Given the description of an element on the screen output the (x, y) to click on. 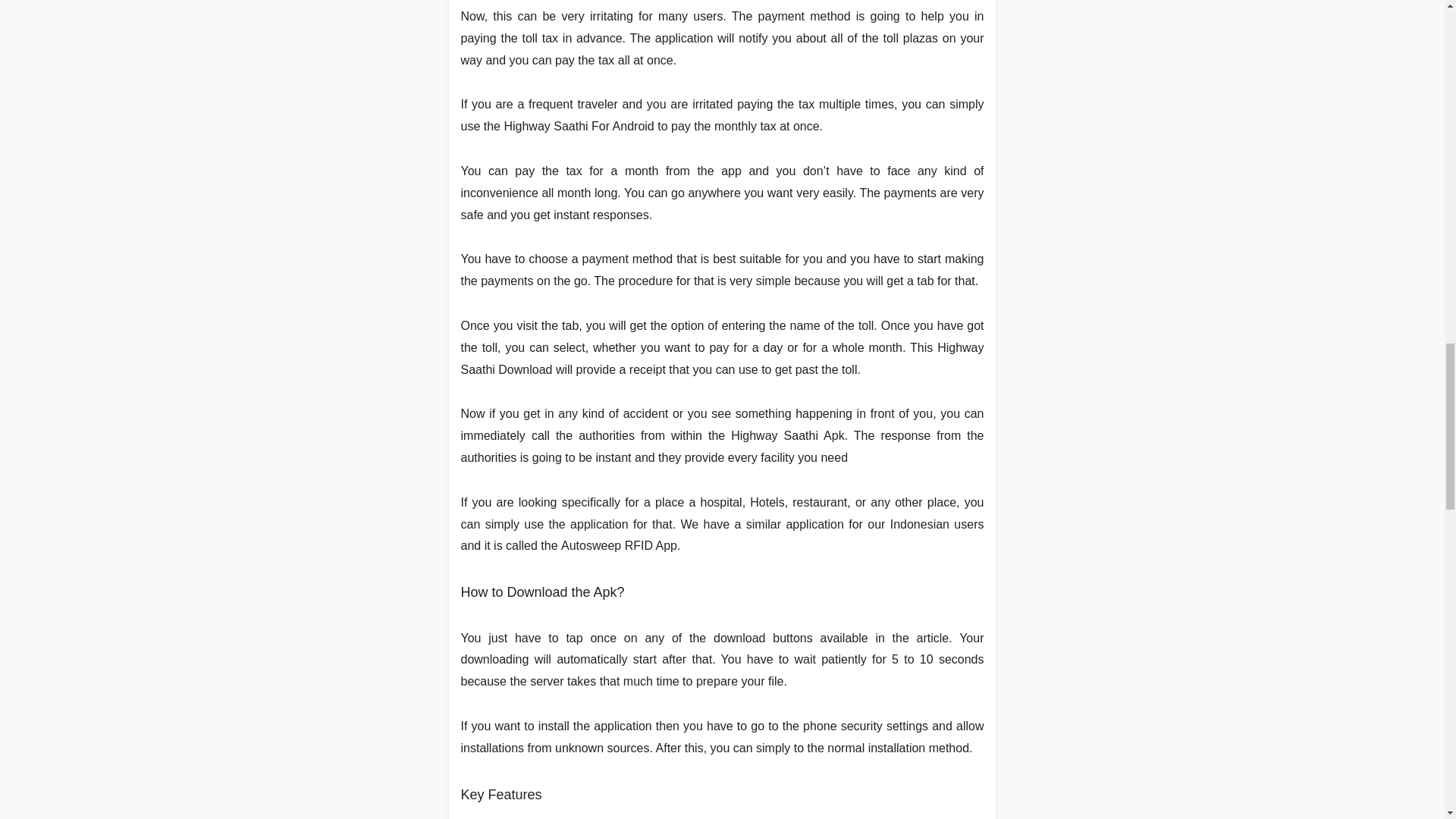
Autosweep RFID App (618, 545)
